Given the description of an element on the screen output the (x, y) to click on. 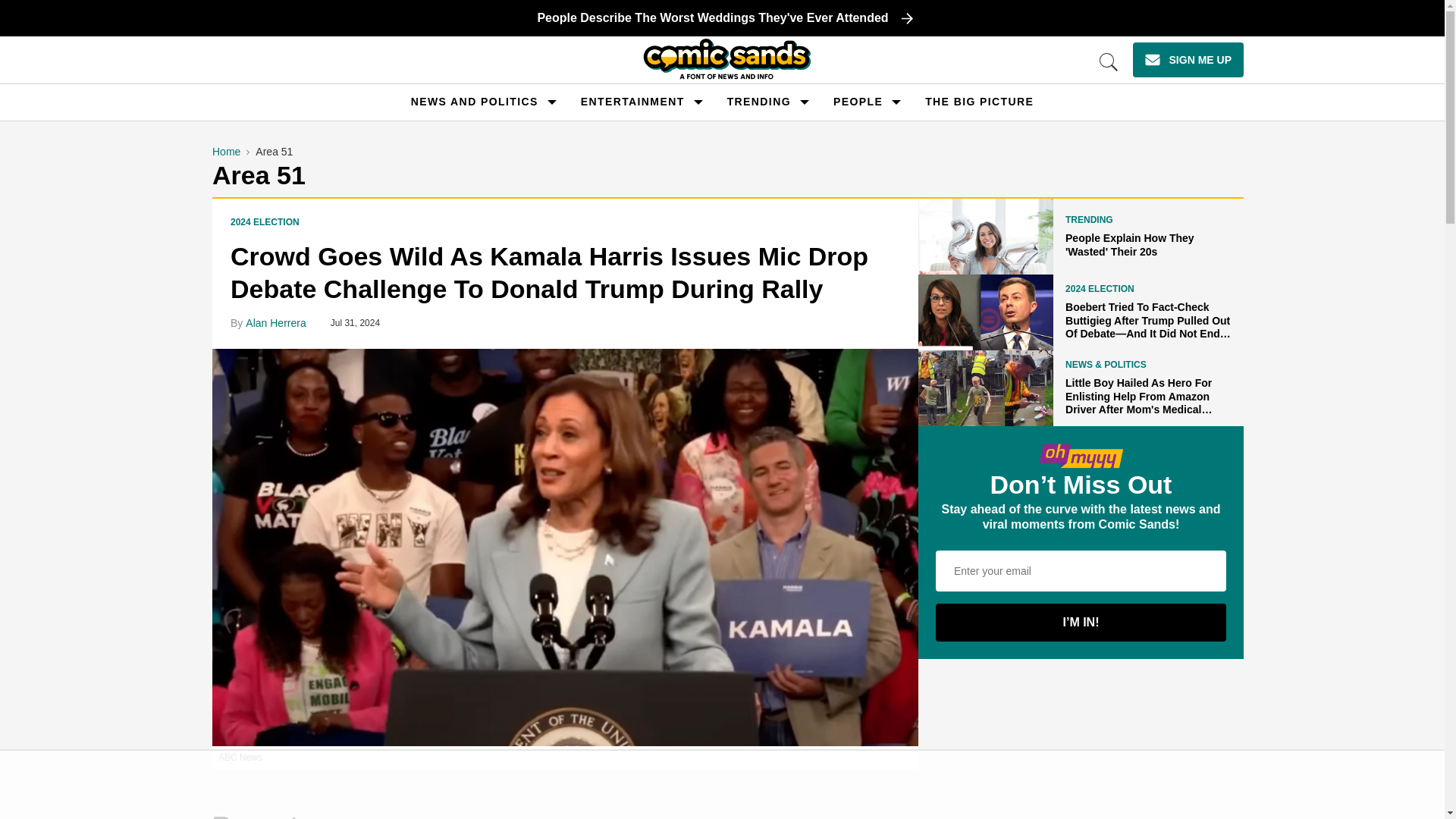
NEWS AND POLITICS (474, 101)
People Describe The Worst Weddings They've Ever Attended (727, 17)
Open Search (1108, 61)
SIGN ME UP (1187, 59)
Open Search (1108, 61)
